Given the description of an element on the screen output the (x, y) to click on. 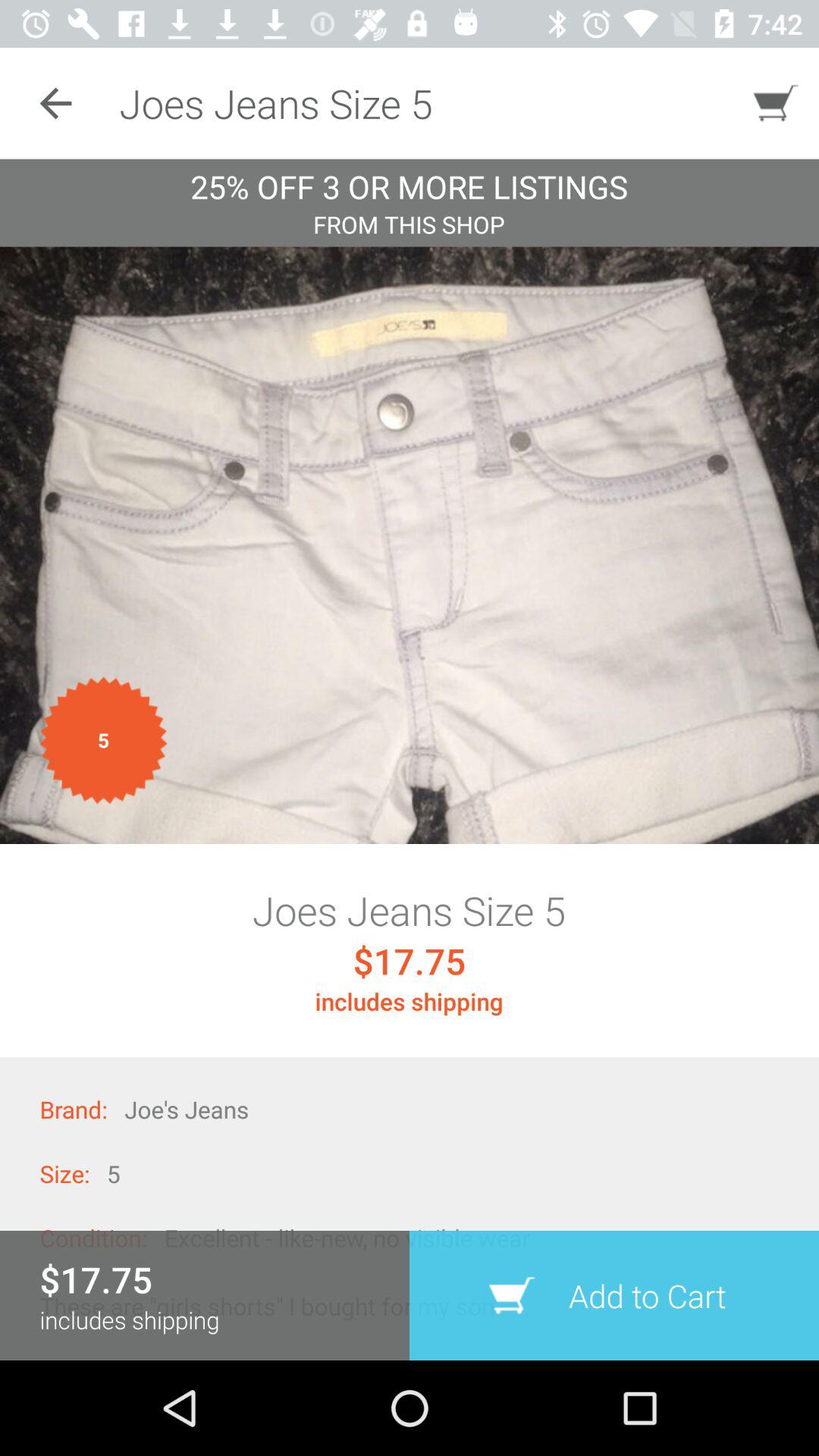
turn on item below the from this shop item (409, 545)
